Given the description of an element on the screen output the (x, y) to click on. 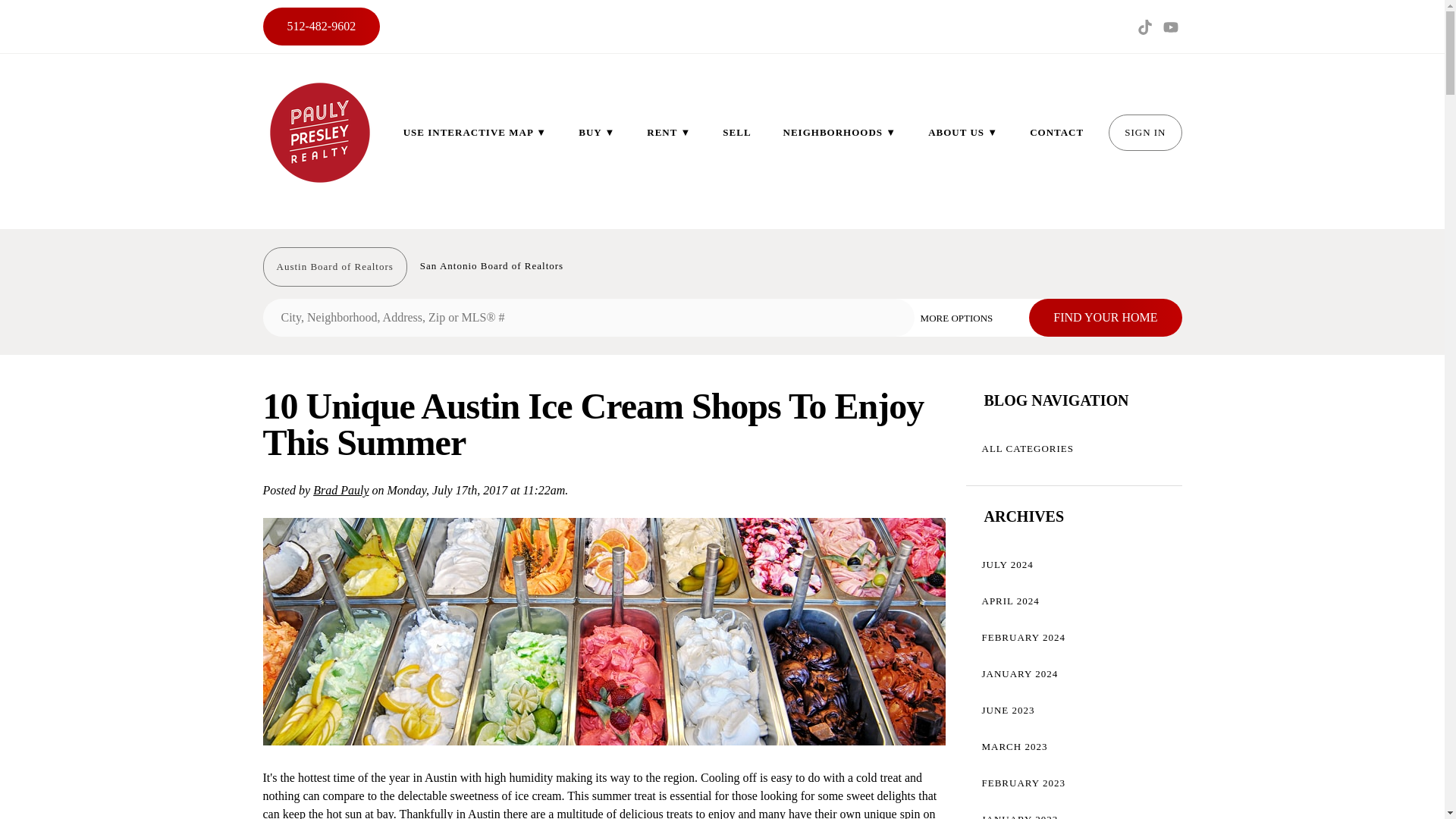
Site Logo (318, 132)
SELL (736, 132)
512-482-9602 (321, 26)
